Given the description of an element on the screen output the (x, y) to click on. 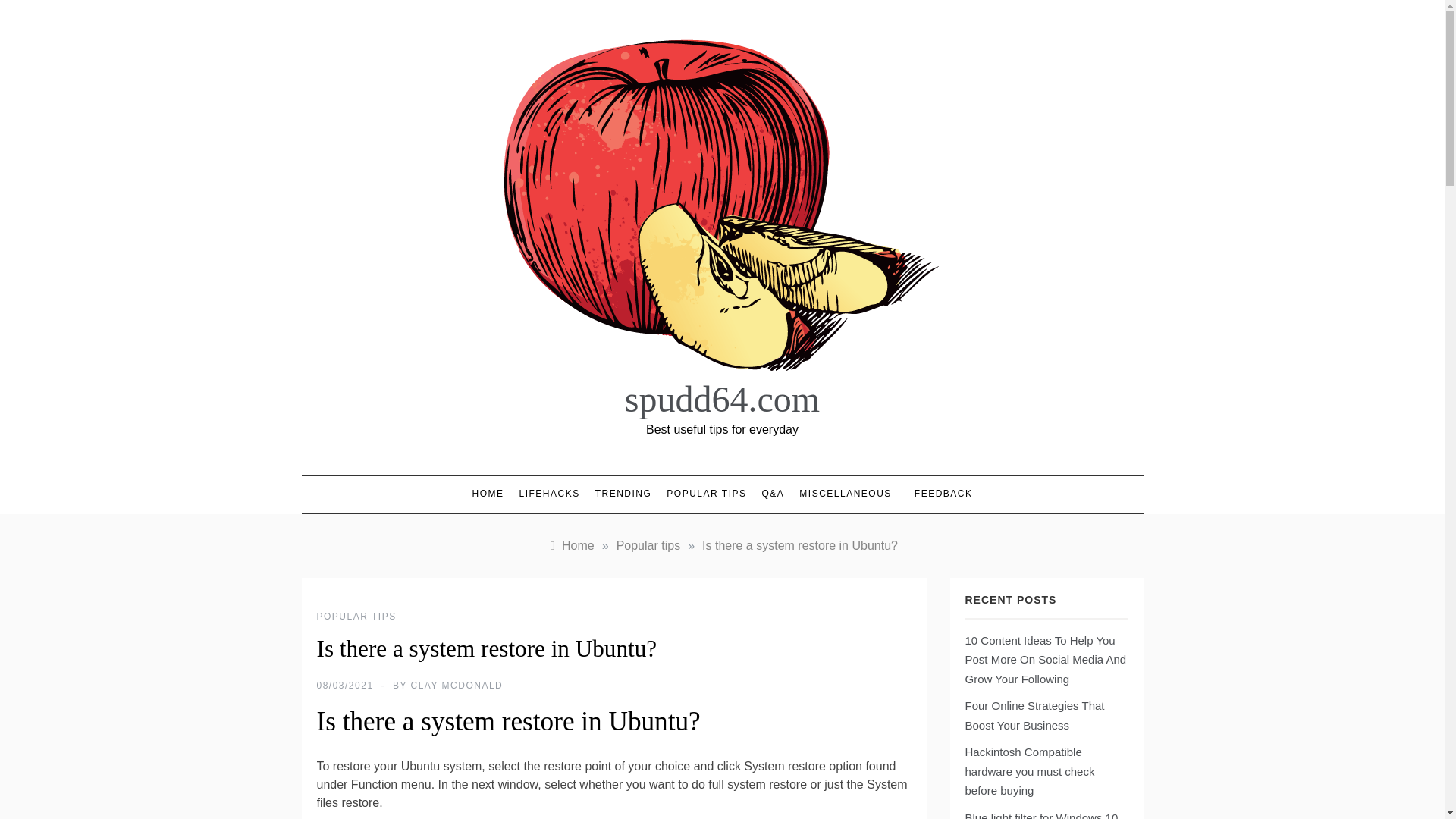
MISCELLANEOUS (845, 493)
LIFEHACKS (548, 493)
HOME (491, 493)
Blue light filter for Windows 10 (1040, 815)
spudd64.com (721, 399)
POPULAR TIPS (356, 615)
Hackintosh Compatible hardware you must check before buying (1028, 770)
FEEDBACK (935, 493)
Home (570, 545)
